Given the description of an element on the screen output the (x, y) to click on. 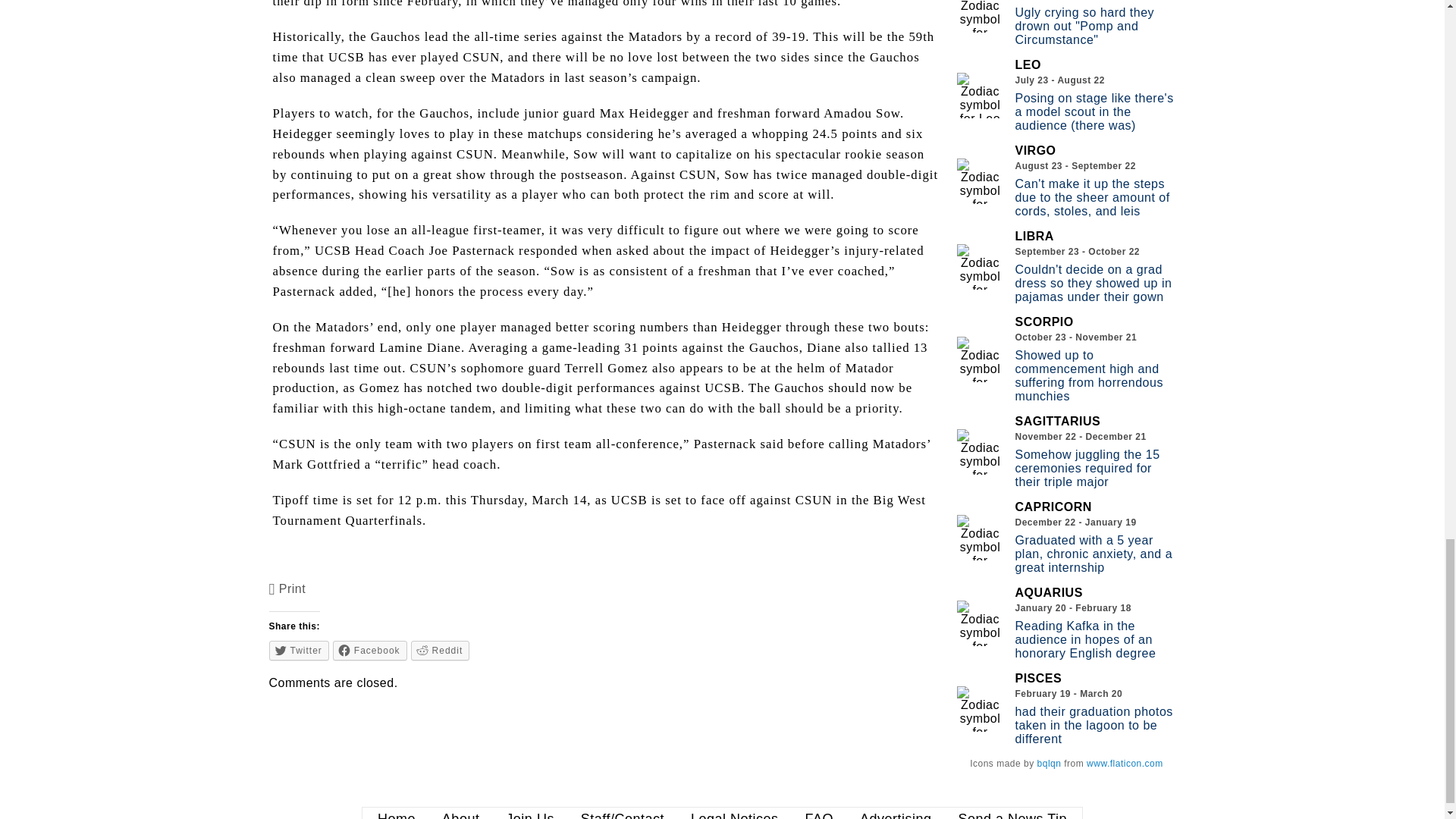
Click to share on Facebook (370, 650)
Click to share on Twitter (299, 650)
Click to share on Reddit (440, 650)
